Given the description of an element on the screen output the (x, y) to click on. 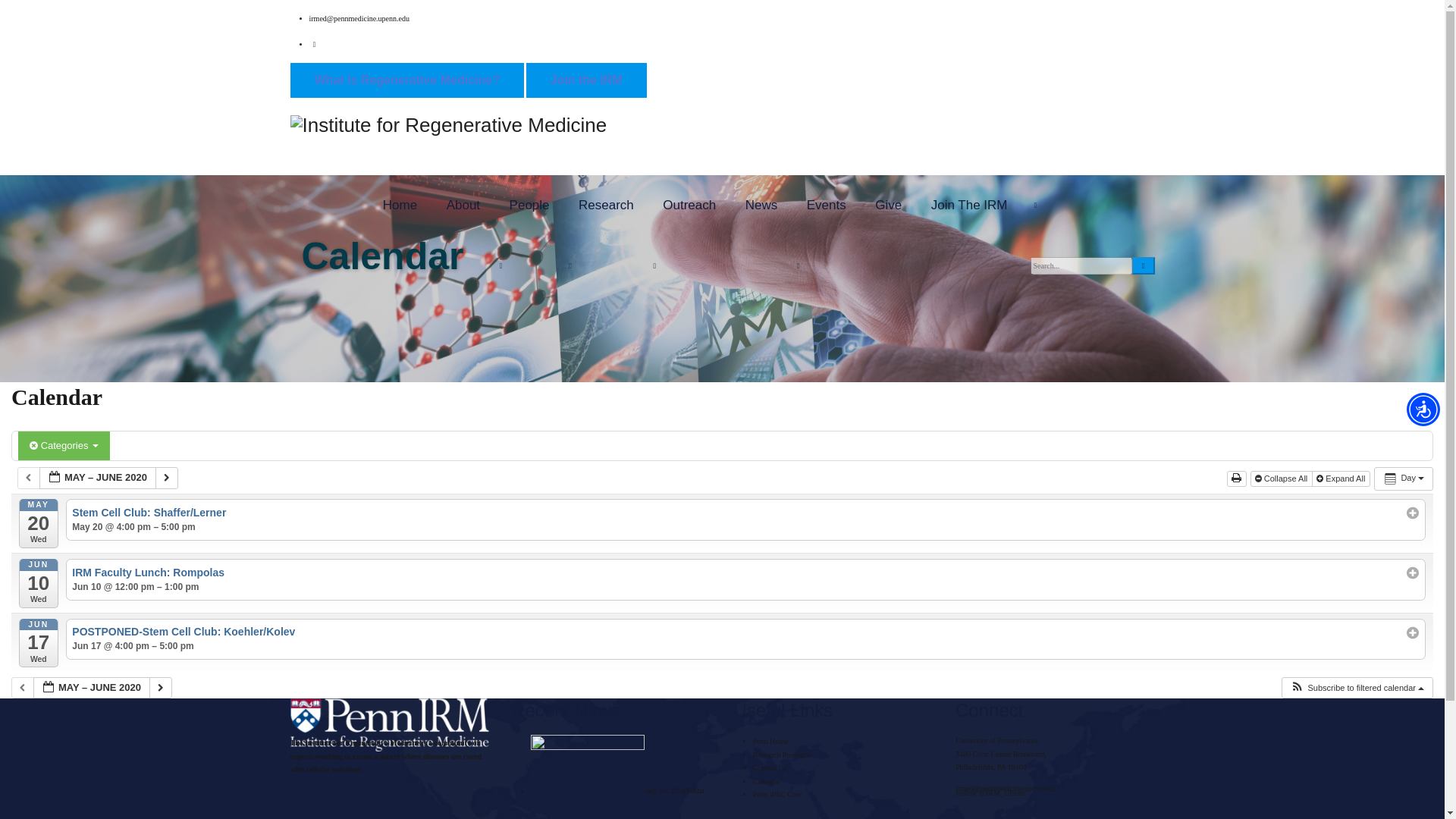
Choose a date using calendar (91, 688)
Categories (63, 446)
Accessibility Menu (1422, 409)
Clear category filter (34, 445)
Join The IRM (969, 205)
What Is Regenerative Medicine? (406, 80)
About (462, 205)
Outreach (689, 205)
Institute for Regenerative Medicine (721, 125)
Events (826, 205)
Home (399, 205)
Research (605, 205)
News (762, 205)
Join the IRM (585, 80)
Choose a date using calendar (97, 477)
